Given the description of an element on the screen output the (x, y) to click on. 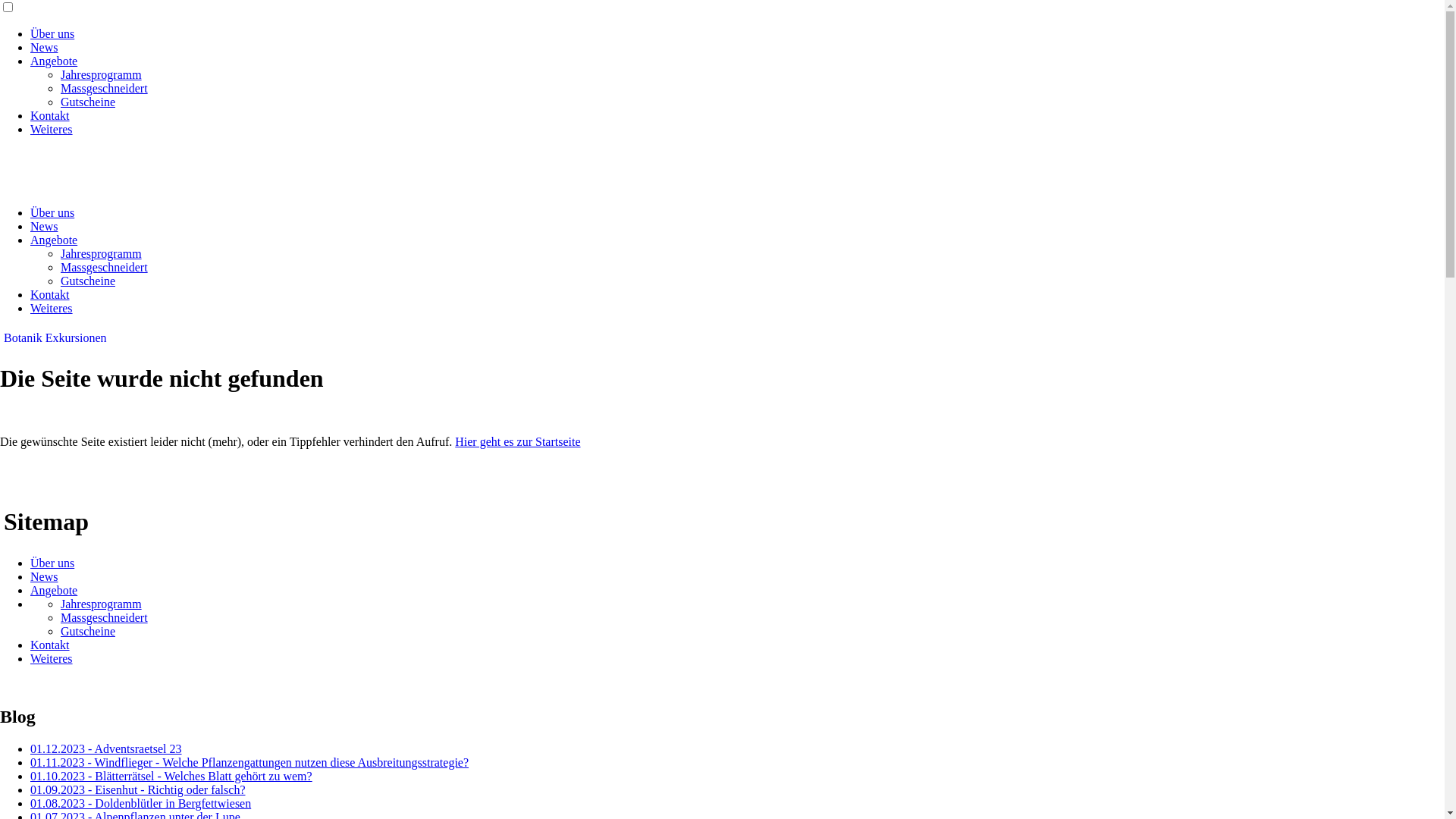
Kontakt Element type: text (49, 644)
News Element type: text (43, 225)
01.12.2023 - Adventsraetsel 23 Element type: text (106, 748)
Jahresprogramm Element type: text (100, 603)
Massgeschneidert Element type: text (103, 266)
Massgeschneidert Element type: text (103, 617)
Weiteres Element type: text (51, 307)
Jahresprogramm Element type: text (100, 253)
Weiteres Element type: text (51, 128)
Gutscheine Element type: text (87, 630)
News Element type: text (43, 46)
Gutscheine Element type: text (87, 280)
01.09.2023 - Eisenhut - Richtig oder falsch? Element type: text (137, 789)
Botanik Exkursionen Element type: text (54, 337)
Angebote Element type: text (53, 60)
Angebote Element type: text (53, 239)
Hier geht es zur Startseite Element type: text (517, 441)
Massgeschneidert Element type: text (103, 87)
Kontakt Element type: text (49, 115)
Gutscheine Element type: text (87, 101)
Kontakt Element type: text (49, 294)
Jahresprogramm Element type: text (100, 74)
Weiteres Element type: text (51, 658)
Angebote Element type: text (53, 589)
News Element type: text (43, 576)
